Given the description of an element on the screen output the (x, y) to click on. 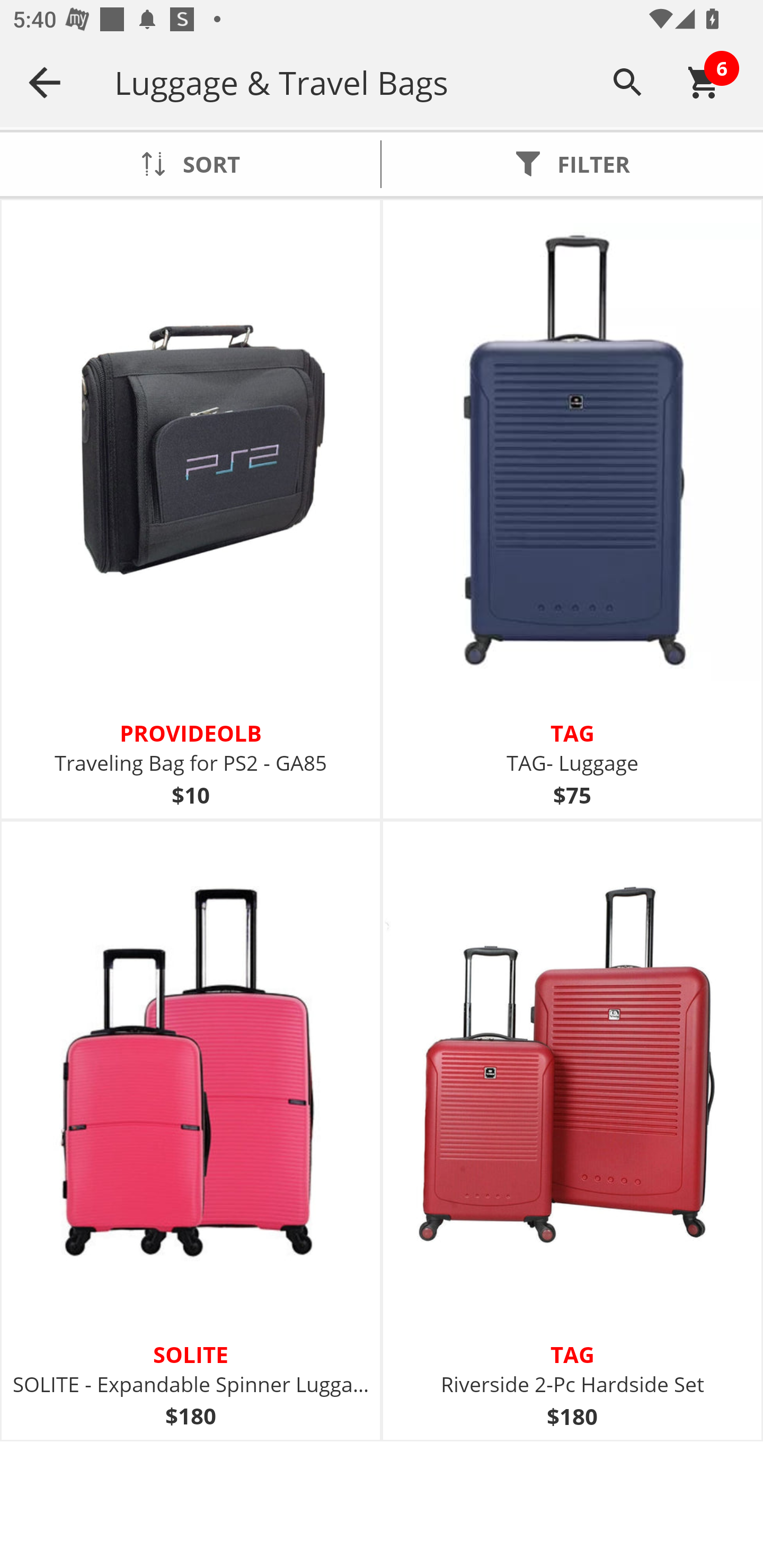
Navigate up (44, 82)
SORT (190, 163)
FILTER (572, 163)
PROVIDEOLB Traveling Bag for PS2 - GA85 $10 (190, 509)
TAG TAG- Luggage $75 (572, 509)
TAG Riverside 2-Pc Hardside Set $180 (572, 1130)
